Given the description of an element on the screen output the (x, y) to click on. 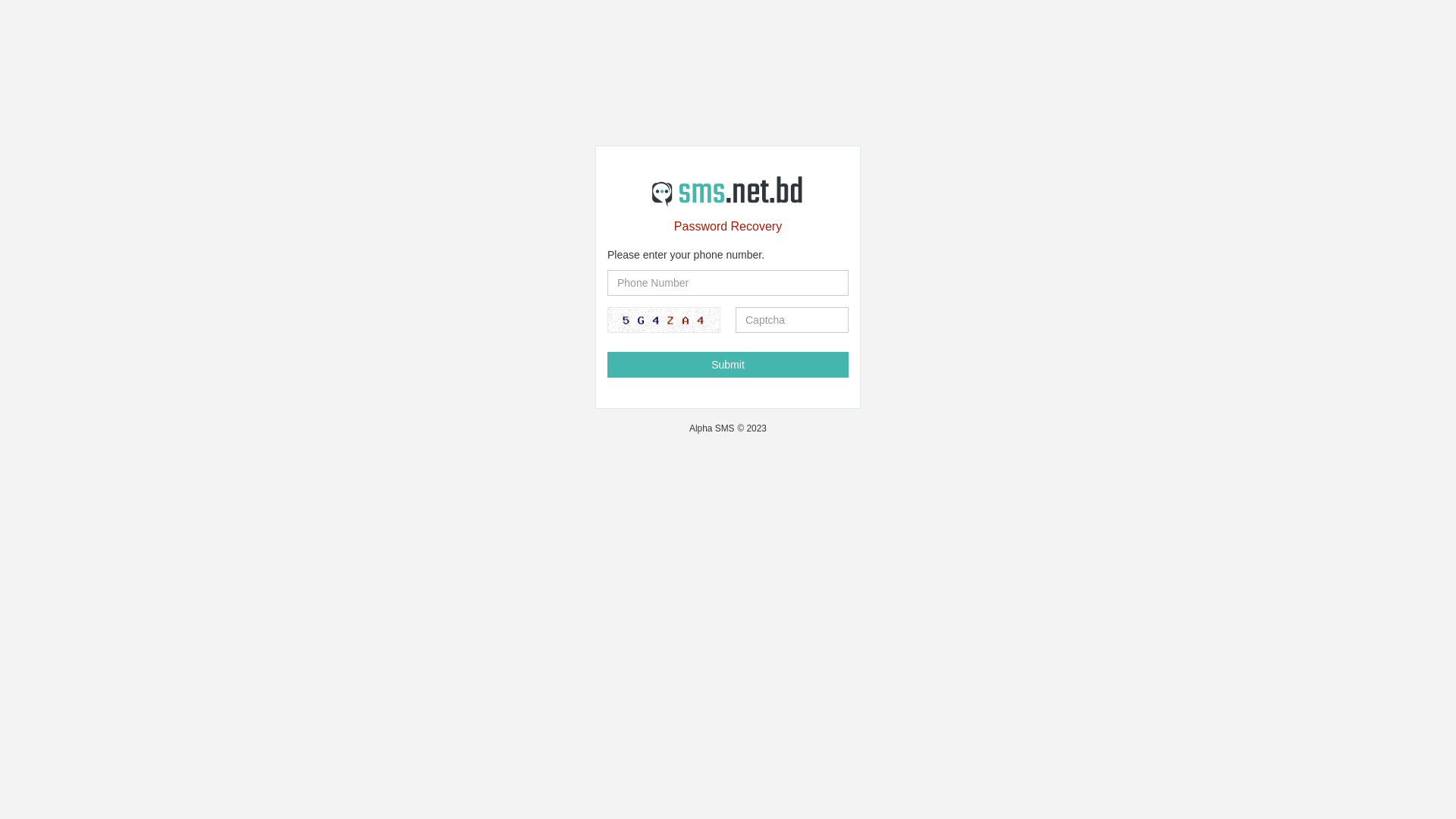
Submit Element type: text (727, 364)
